Given the description of an element on the screen output the (x, y) to click on. 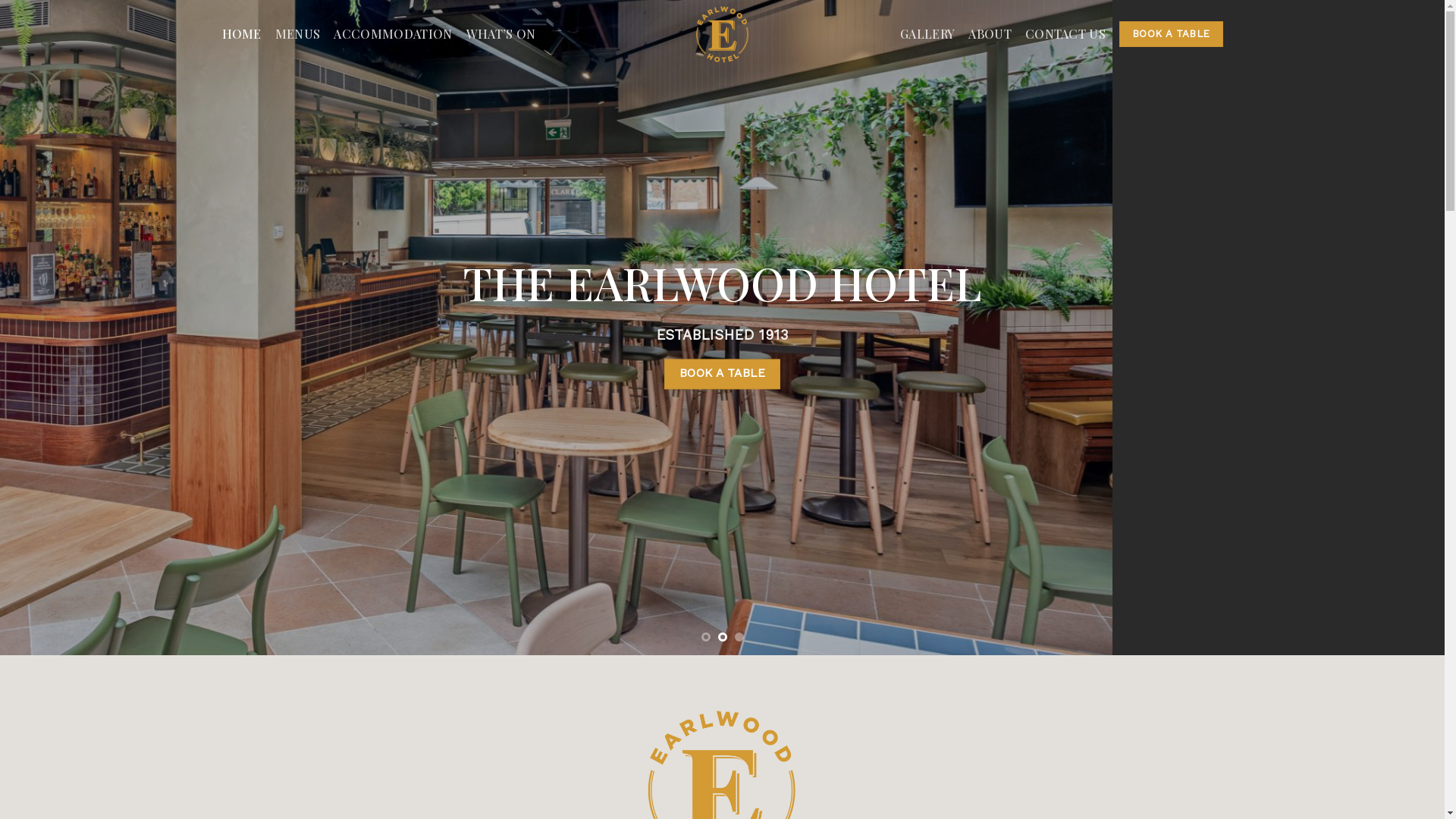
HOME Element type: text (240, 33)
ABOUT Element type: text (989, 33)
The Earlwood Hotel Element type: hover (722, 34)
BOOK A TABLE Element type: text (1170, 34)
ACCOMMODATION Element type: text (392, 33)
GALLERY Element type: text (927, 33)
MENUS Element type: text (297, 33)
BOOK A TABLE Element type: text (722, 374)
CONTACT US Element type: text (1065, 33)
